Given the description of an element on the screen output the (x, y) to click on. 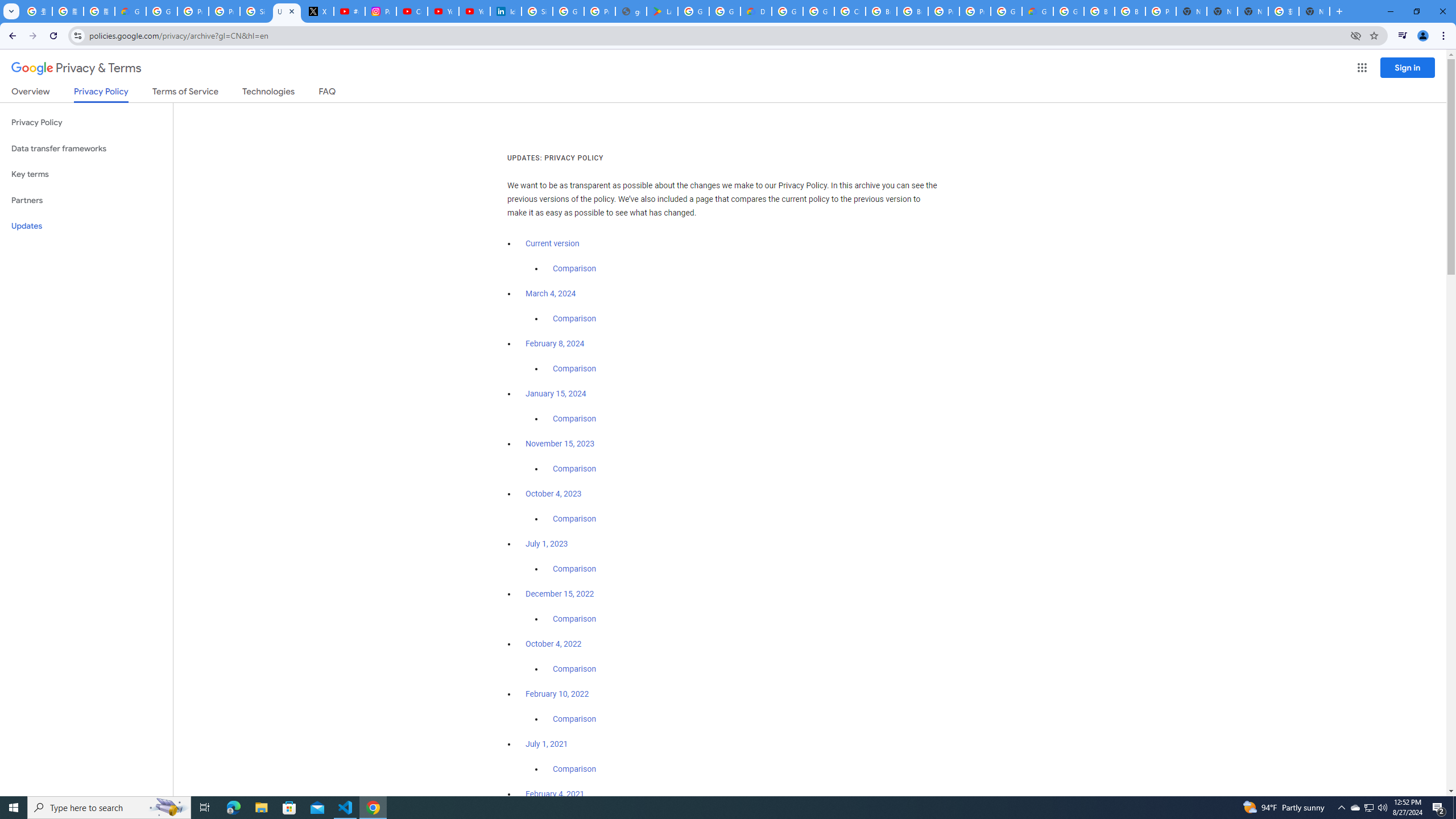
Privacy Help Center - Policies Help (223, 11)
Google Cloud Platform (1005, 11)
February 10, 2022 (557, 693)
#nbabasketballhighlights - YouTube (349, 11)
Sign in - Google Accounts (536, 11)
October 4, 2023 (553, 493)
Google Cloud Platform (787, 11)
Browse Chrome as a guest - Computer - Google Chrome Help (881, 11)
YouTube Culture & Trends - YouTube Top 10, 2021 (474, 11)
